Given the description of an element on the screen output the (x, y) to click on. 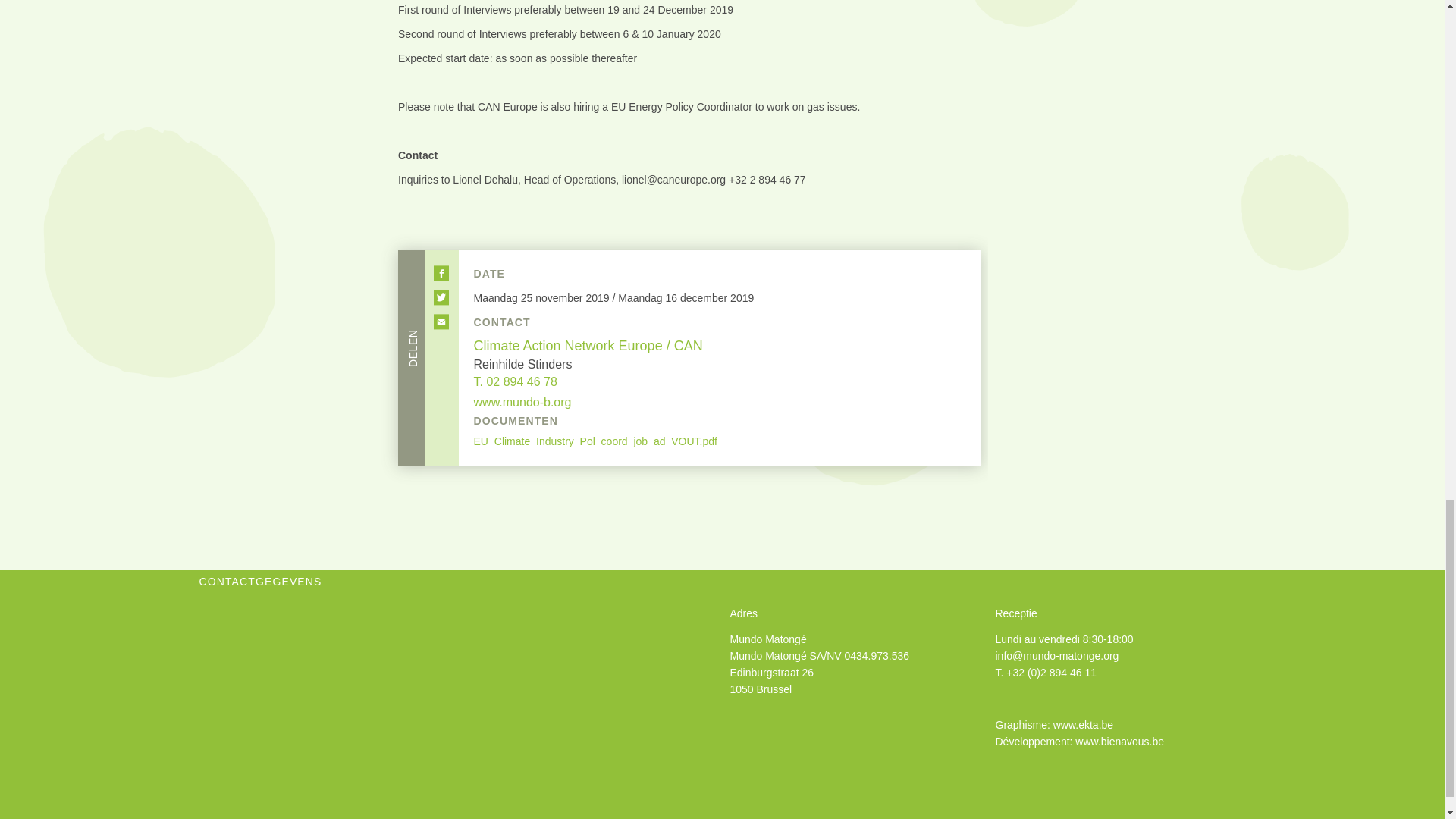
www.mundo-b.org (523, 401)
T. 02 894 46 78 (515, 381)
